Given the description of an element on the screen output the (x, y) to click on. 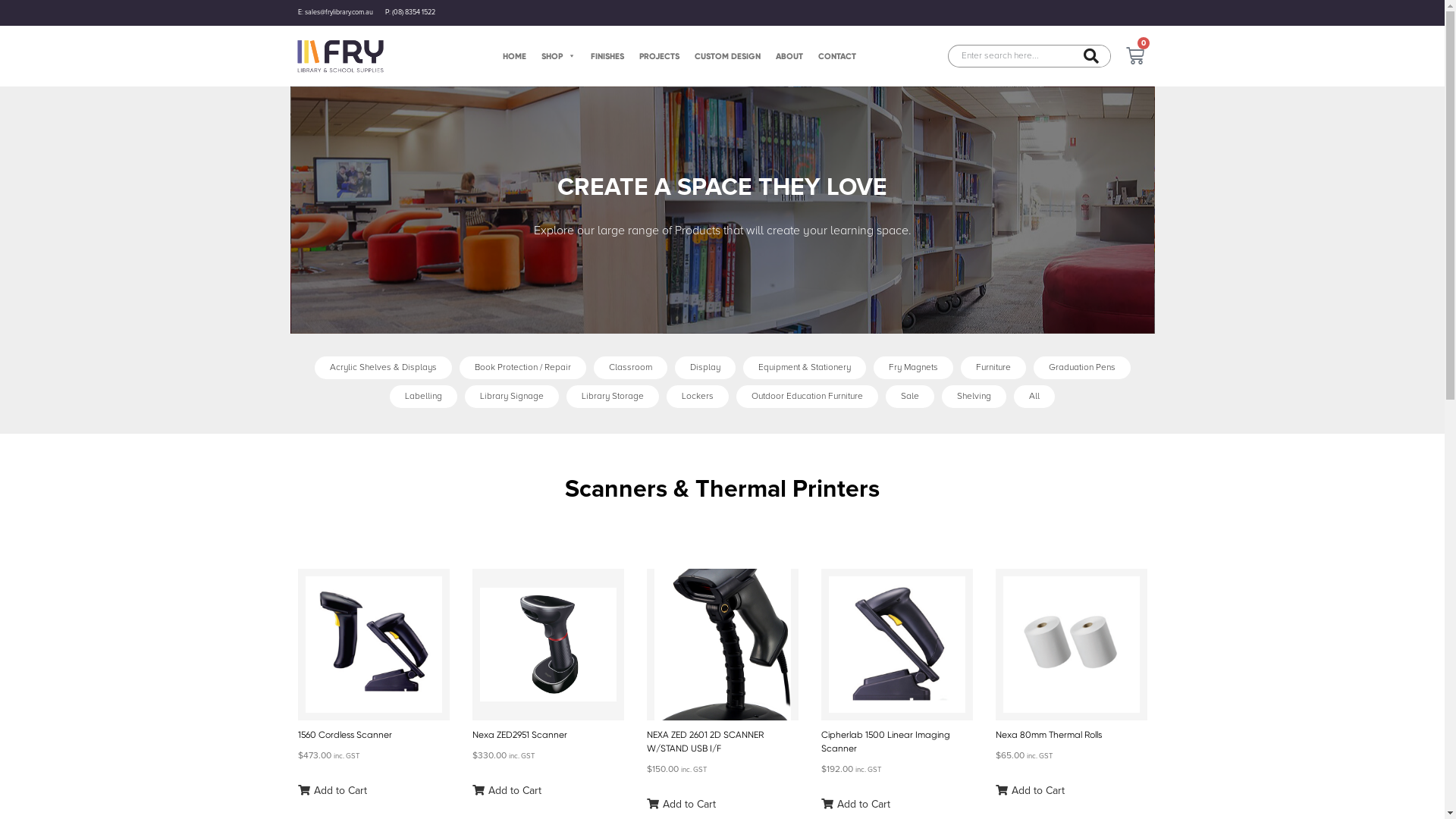
Equipment & Stationery Element type: text (804, 367)
Nexa 80mm Thermal Rolls Element type: text (1047, 734)
Search Element type: hover (1009, 55)
Acrylic Shelves & Displays Element type: text (382, 367)
Furniture Element type: text (992, 367)
Graduation Pens Element type: text (1081, 367)
0 Element type: text (1135, 55)
CUSTOM DESIGN Element type: text (727, 55)
Nexa ZED2951 Scanner Element type: text (518, 734)
Search Element type: hover (1091, 55)
Cipherlab 1500 Linear Imaging Scanner Element type: text (884, 741)
PROJECTS Element type: text (658, 55)
Outdoor Education Furniture Element type: text (806, 395)
NEXA ZED 2601 2D SCANNER W/STAND USB I/F Element type: text (704, 741)
Add to Cart Element type: text (854, 804)
CONTACT Element type: text (835, 55)
Display Element type: text (705, 367)
Add to Cart Element type: text (331, 790)
1560 Cordless Scanner Element type: text (344, 734)
Book Protection / Repair Element type: text (522, 367)
Lockers Element type: text (697, 395)
Shelving Element type: text (974, 395)
HOME Element type: text (513, 55)
Labelling Element type: text (423, 395)
Add to Cart Element type: text (680, 804)
ABOUT Element type: text (788, 55)
Library Signage Element type: text (511, 395)
E: sales@frylibrary.com.au Element type: text (334, 12)
Sale Element type: text (909, 395)
Library Storage Element type: text (612, 395)
SHOP Element type: text (558, 55)
P: (08) 8354 1522 Element type: text (410, 12)
Add to Cart Element type: text (505, 790)
Classroom Element type: text (629, 367)
Add to Cart Element type: text (1028, 790)
Fry Magnets Element type: text (913, 367)
All Element type: text (1034, 395)
FINISHES Element type: text (606, 55)
